Given the description of an element on the screen output the (x, y) to click on. 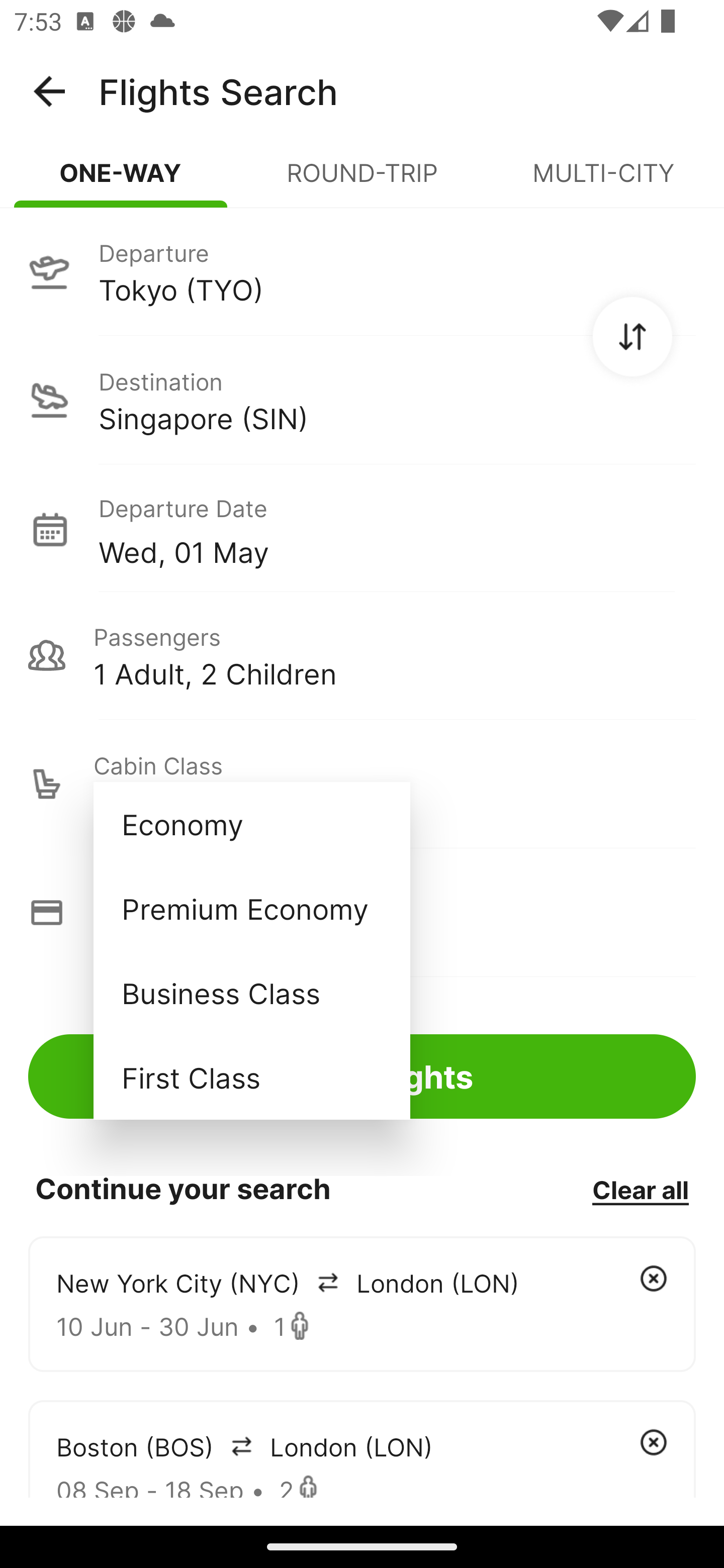
Economy (251, 824)
Premium Economy (251, 908)
Business Class (251, 992)
First Class (251, 1076)
